Given the description of an element on the screen output the (x, y) to click on. 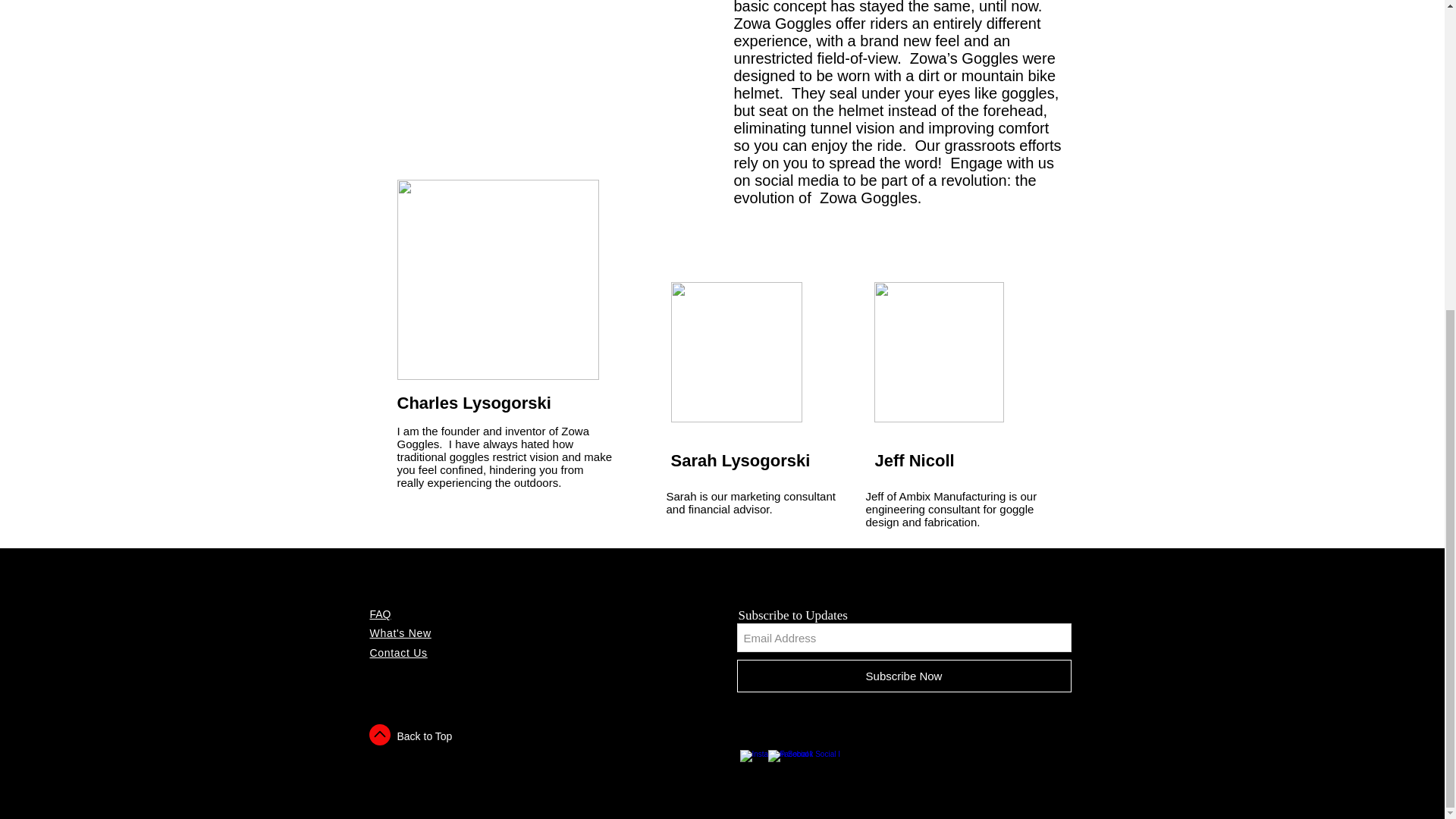
05d0de4.jpg (938, 351)
Back to Top (424, 736)
Contact Us (398, 653)
sarah.jpg (735, 351)
What's New (399, 633)
FAQ (380, 613)
Subscribe Now (903, 676)
